Given the description of an element on the screen output the (x, y) to click on. 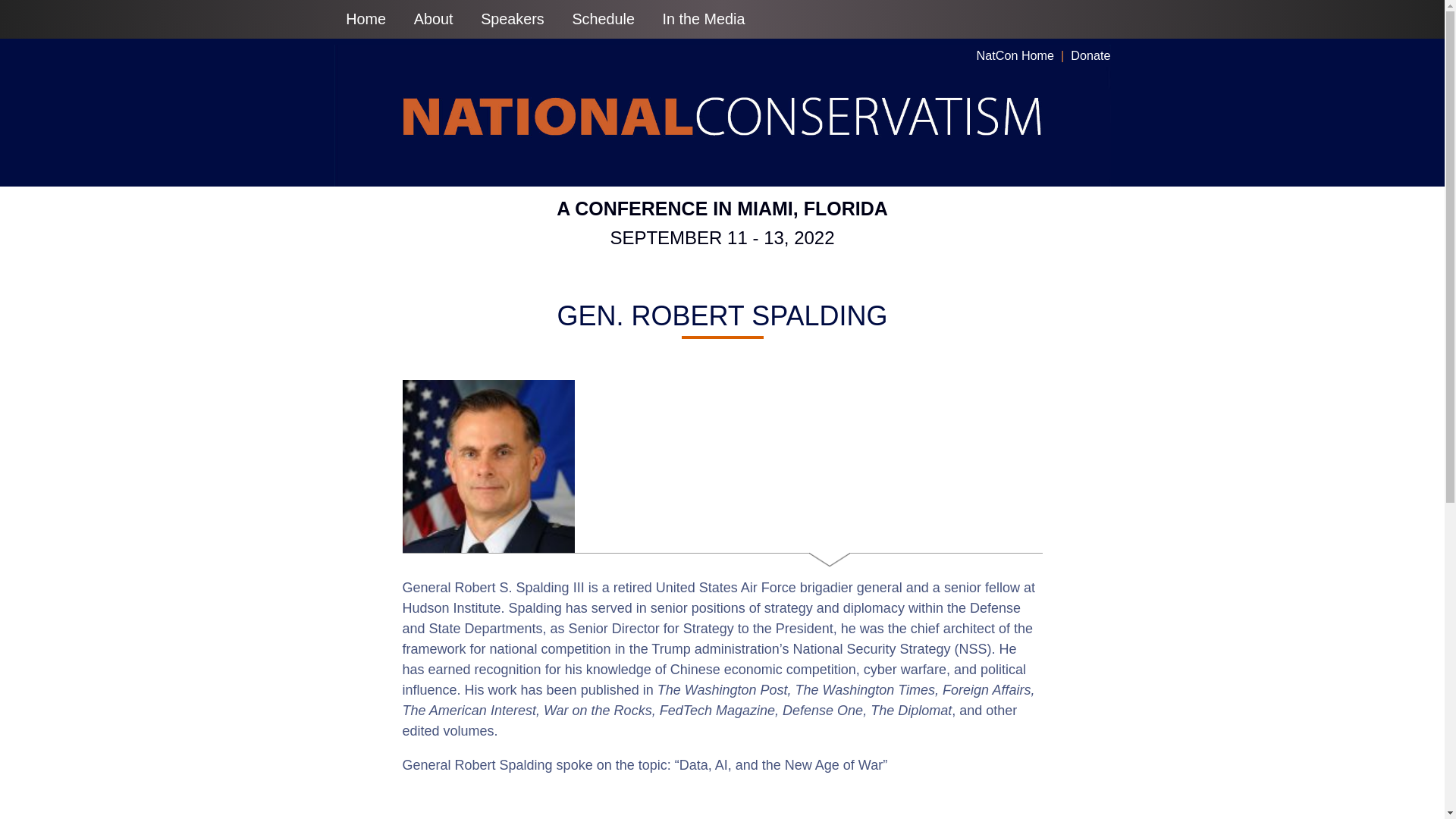
In the Media (703, 19)
Donate (1089, 55)
Schedule (603, 19)
NatCon Home (1015, 55)
Speakers (721, 224)
About (512, 19)
Home (432, 19)
